Given the description of an element on the screen output the (x, y) to click on. 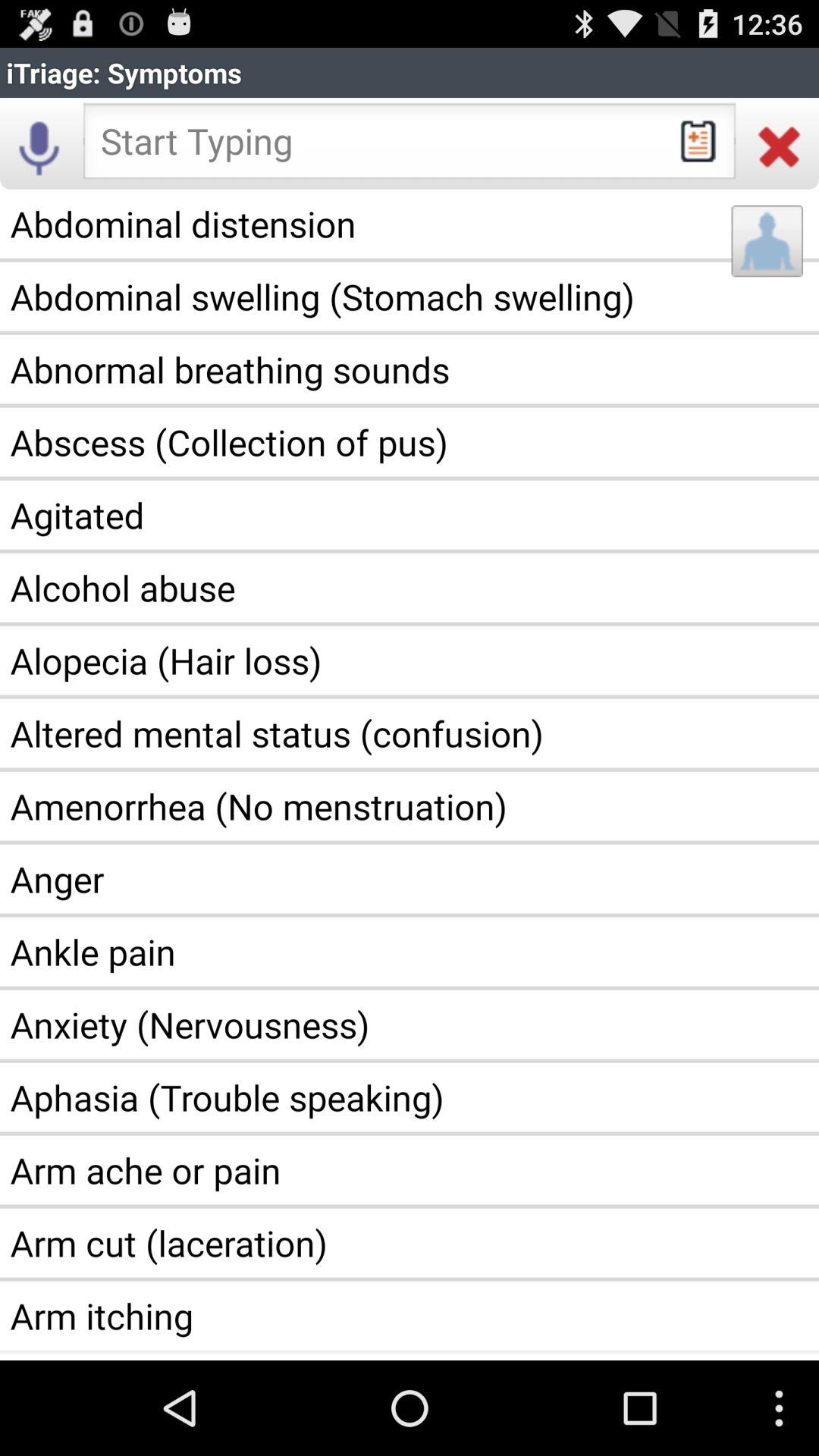
swipe until abscess collection of item (409, 442)
